Given the description of an element on the screen output the (x, y) to click on. 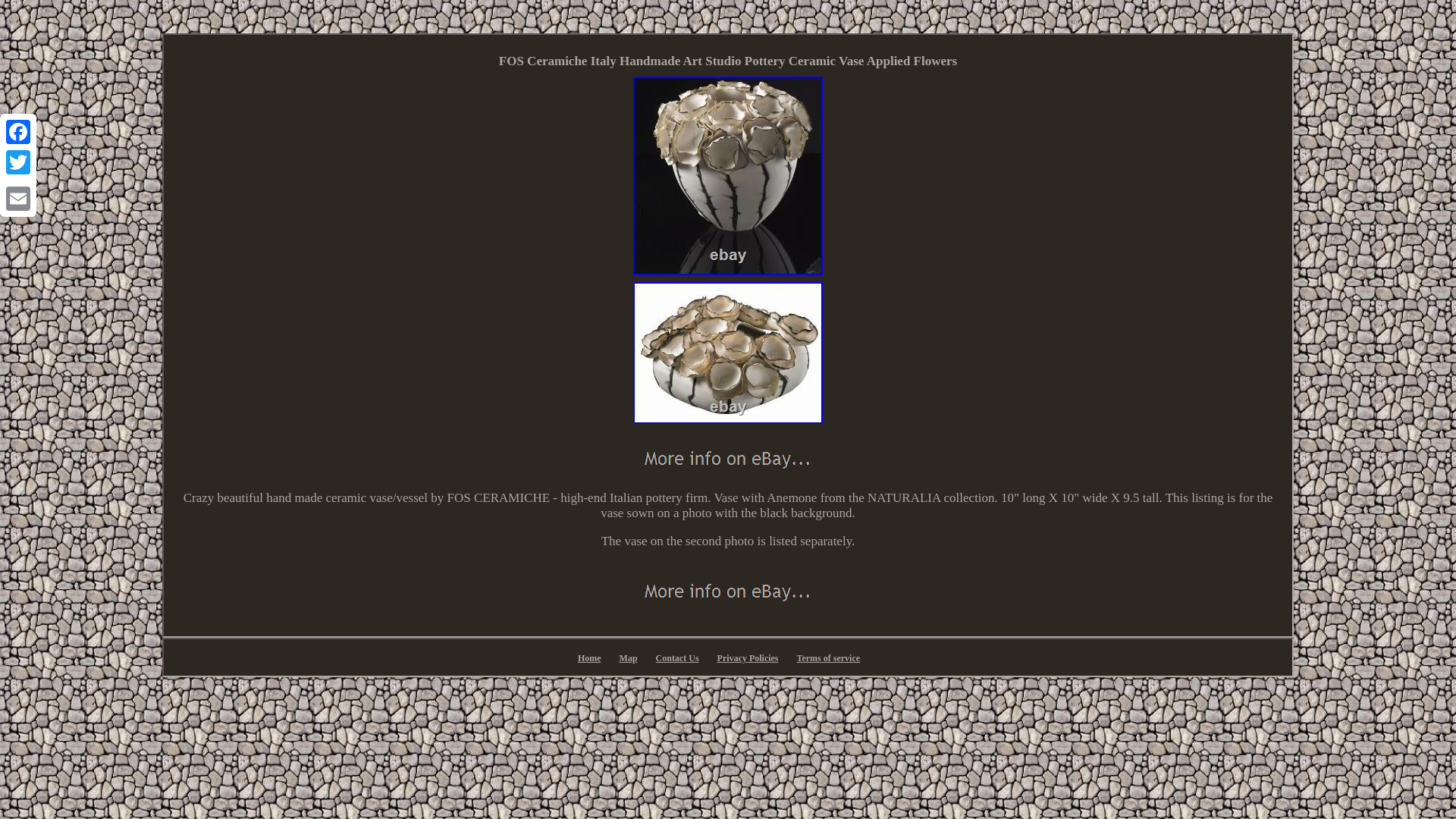
Facebook (17, 132)
Email (17, 198)
Twitter (17, 162)
